Given the description of an element on the screen output the (x, y) to click on. 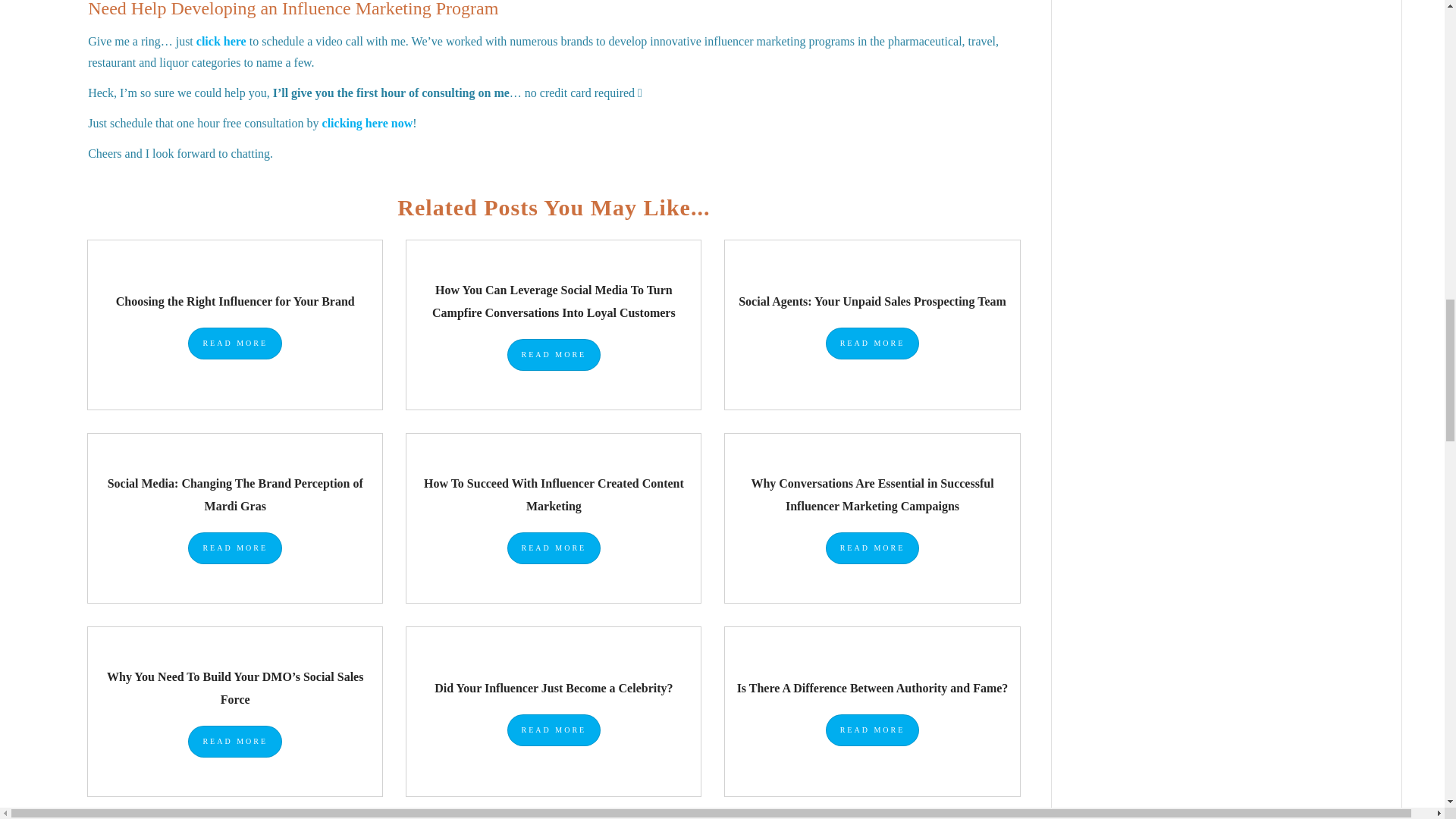
Did Your Influencer Just Become a Celebrity? (552, 687)
How To Succeed With Influencer Created Content Marketing (553, 494)
Is There A Difference Between Authority and Fame? (872, 687)
Choosing the Right Influencer for Your Brand (235, 300)
Social Agents: Your Unpaid Sales Prospecting Team (872, 300)
Social Media: Changing The Brand Perception of Mardi Gras (234, 494)
